Given the description of an element on the screen output the (x, y) to click on. 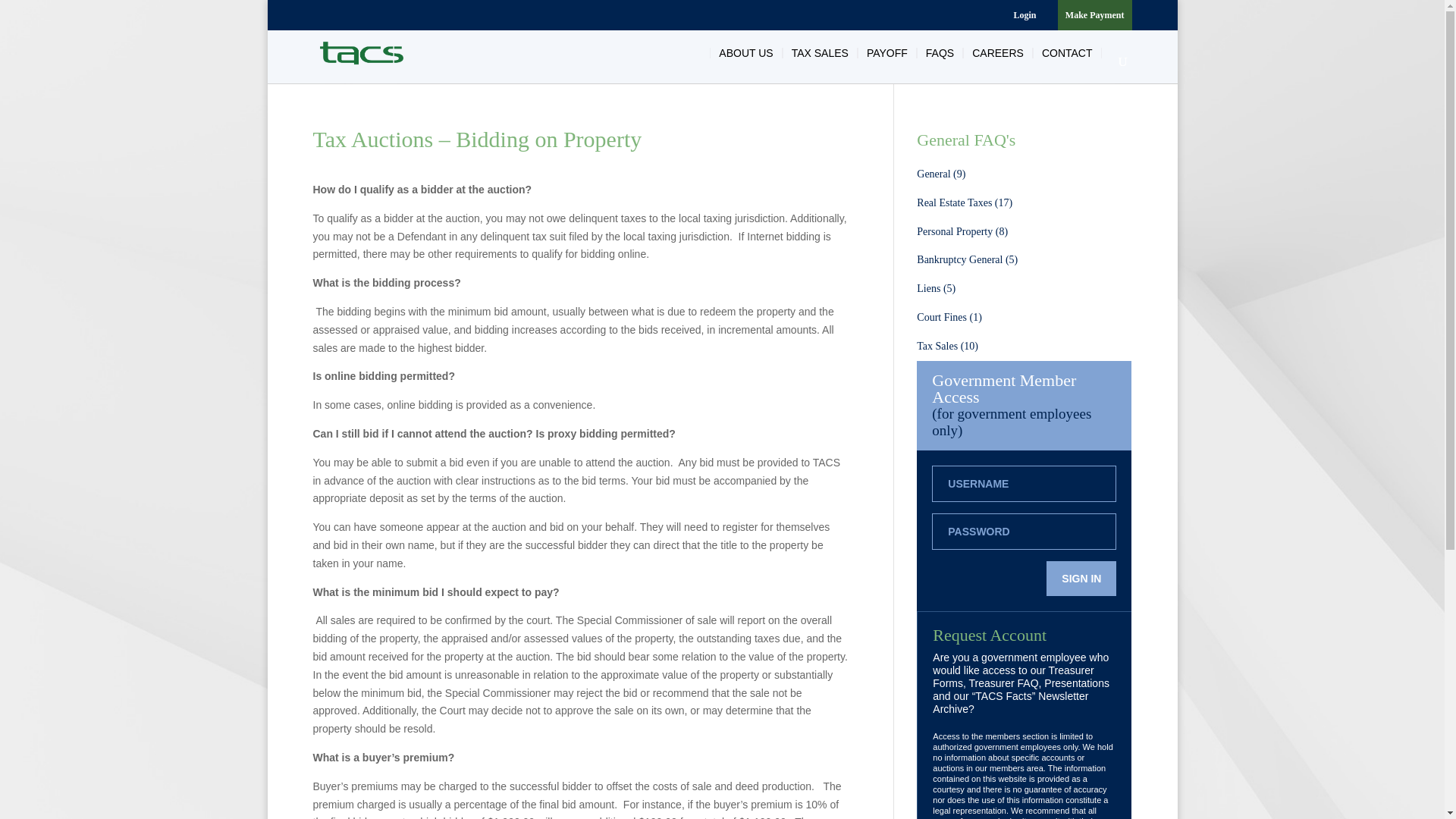
PAYOFF (887, 52)
Login (1024, 18)
SIGN IN (1081, 578)
Go to Liens (936, 288)
Go to Bankruptcy General (967, 259)
Go to Personal Property (962, 231)
FAQS (939, 52)
Make Payment (1094, 18)
Go to Court Fines (949, 317)
CAREERS (997, 52)
TAX SALES (820, 52)
Go to General (941, 173)
SIGN IN (1081, 578)
ABOUT US (745, 52)
CONTACT (1067, 52)
